Given the description of an element on the screen output the (x, y) to click on. 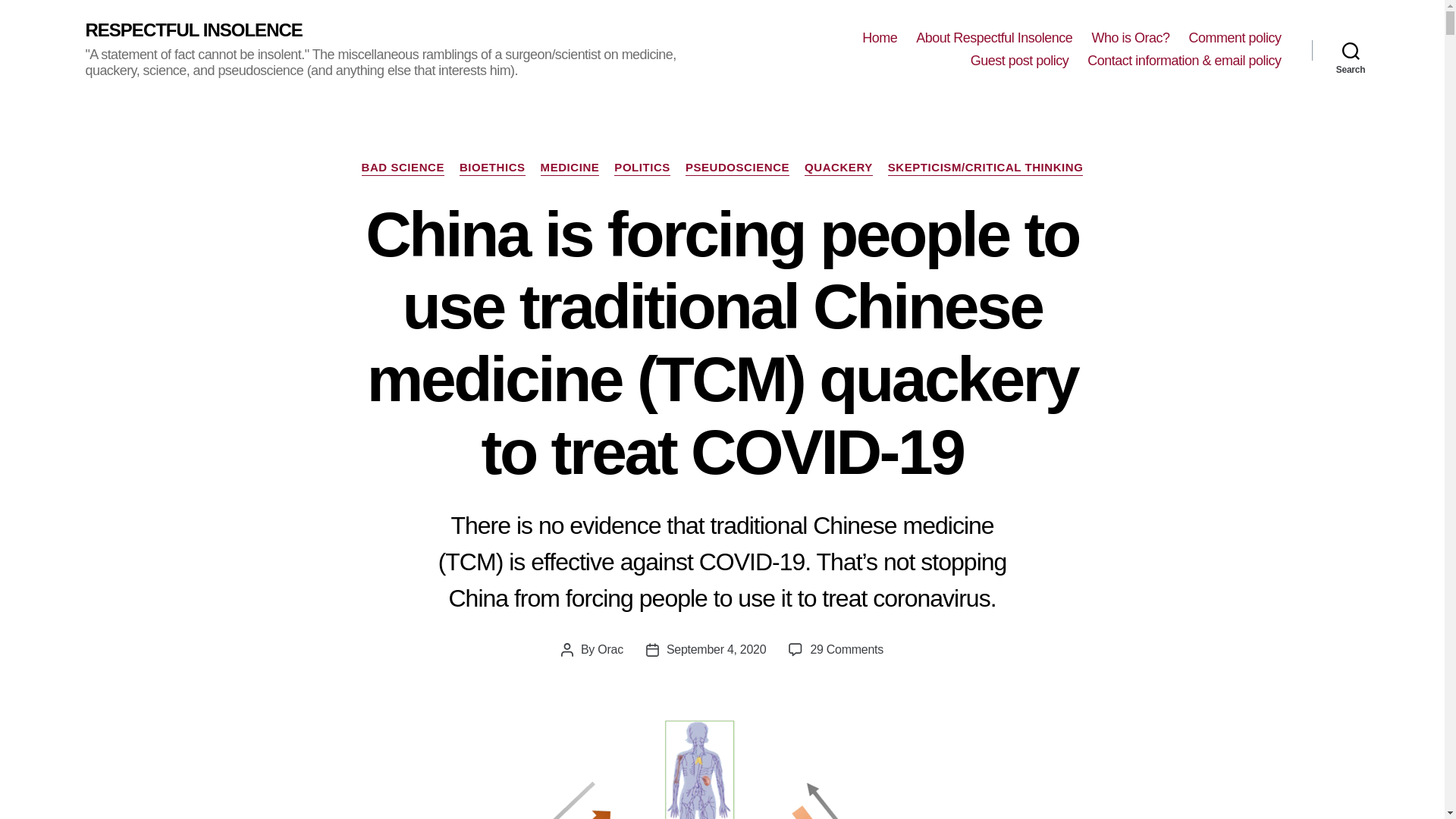
BAD SCIENCE (402, 168)
Home (878, 38)
PSEUDOSCIENCE (737, 168)
Orac (609, 649)
Guest post policy (1019, 61)
Comment policy (1234, 38)
BIOETHICS (492, 168)
POLITICS (641, 168)
Search (1350, 49)
Who is Orac? (1129, 38)
About Respectful Insolence (993, 38)
September 4, 2020 (716, 649)
QUACKERY (838, 168)
RESPECTFUL INSOLENCE (192, 30)
MEDICINE (569, 168)
